Given the description of an element on the screen output the (x, y) to click on. 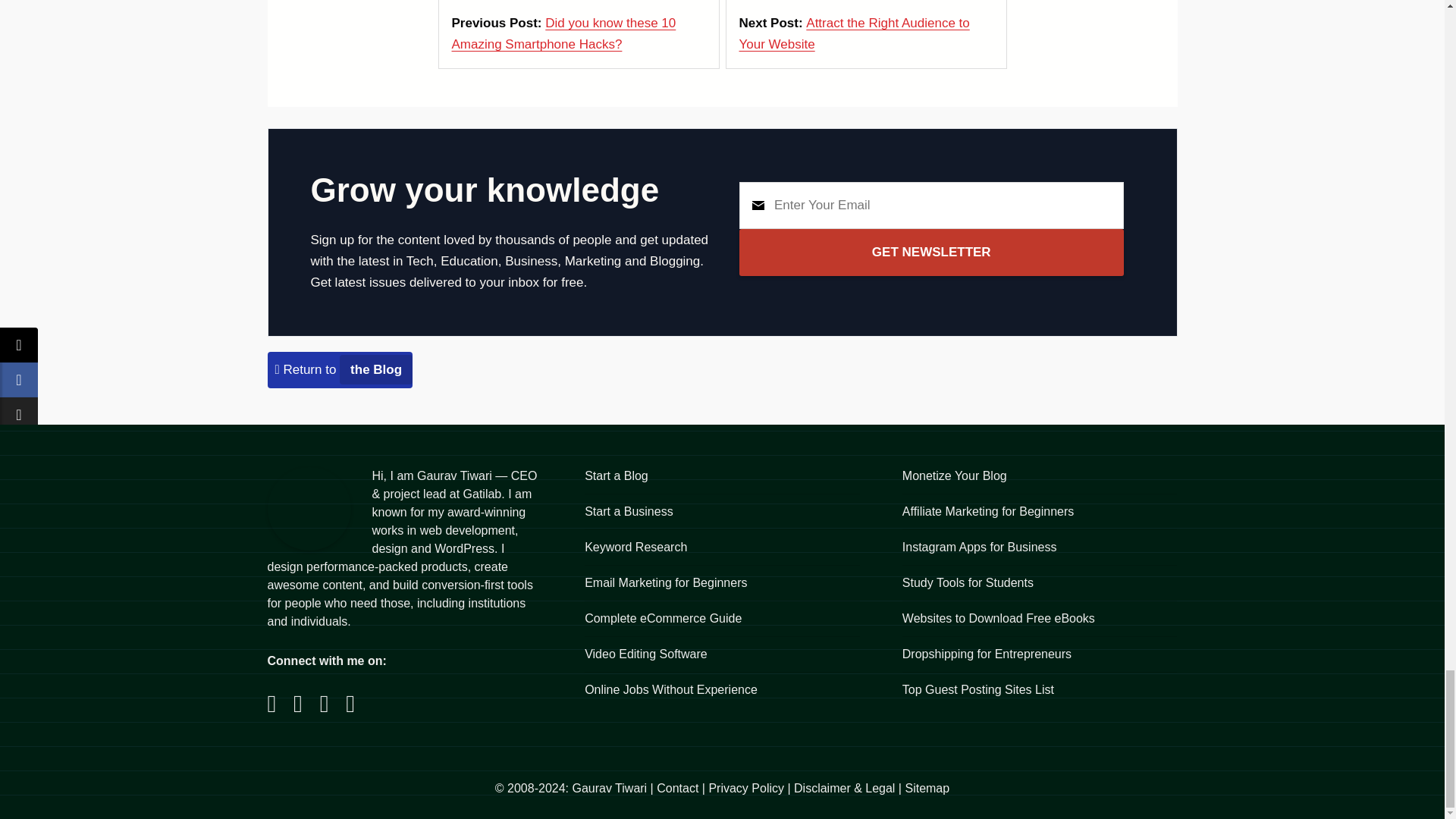
Return to the Blog (343, 369)
Did you know these 10 Amazing Smartphone Hacks? (564, 33)
Get Newsletter (931, 252)
Get Newsletter (931, 252)
Attract the Right Audience to Your Website (853, 33)
